Given the description of an element on the screen output the (x, y) to click on. 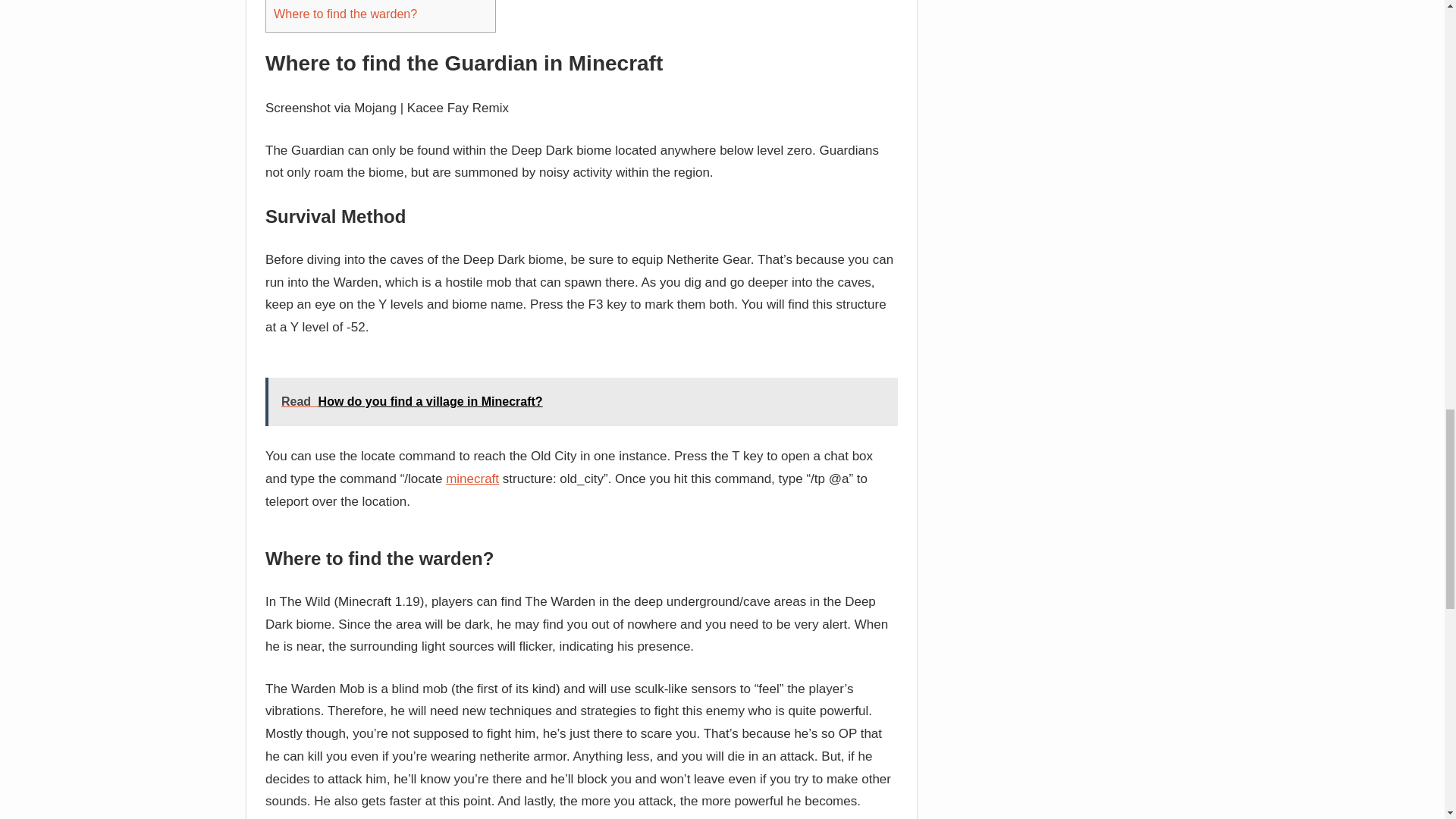
Read  How do you find a village in Minecraft? (581, 401)
Where to find the warden? (344, 12)
minecraft (472, 478)
